Given the description of an element on the screen output the (x, y) to click on. 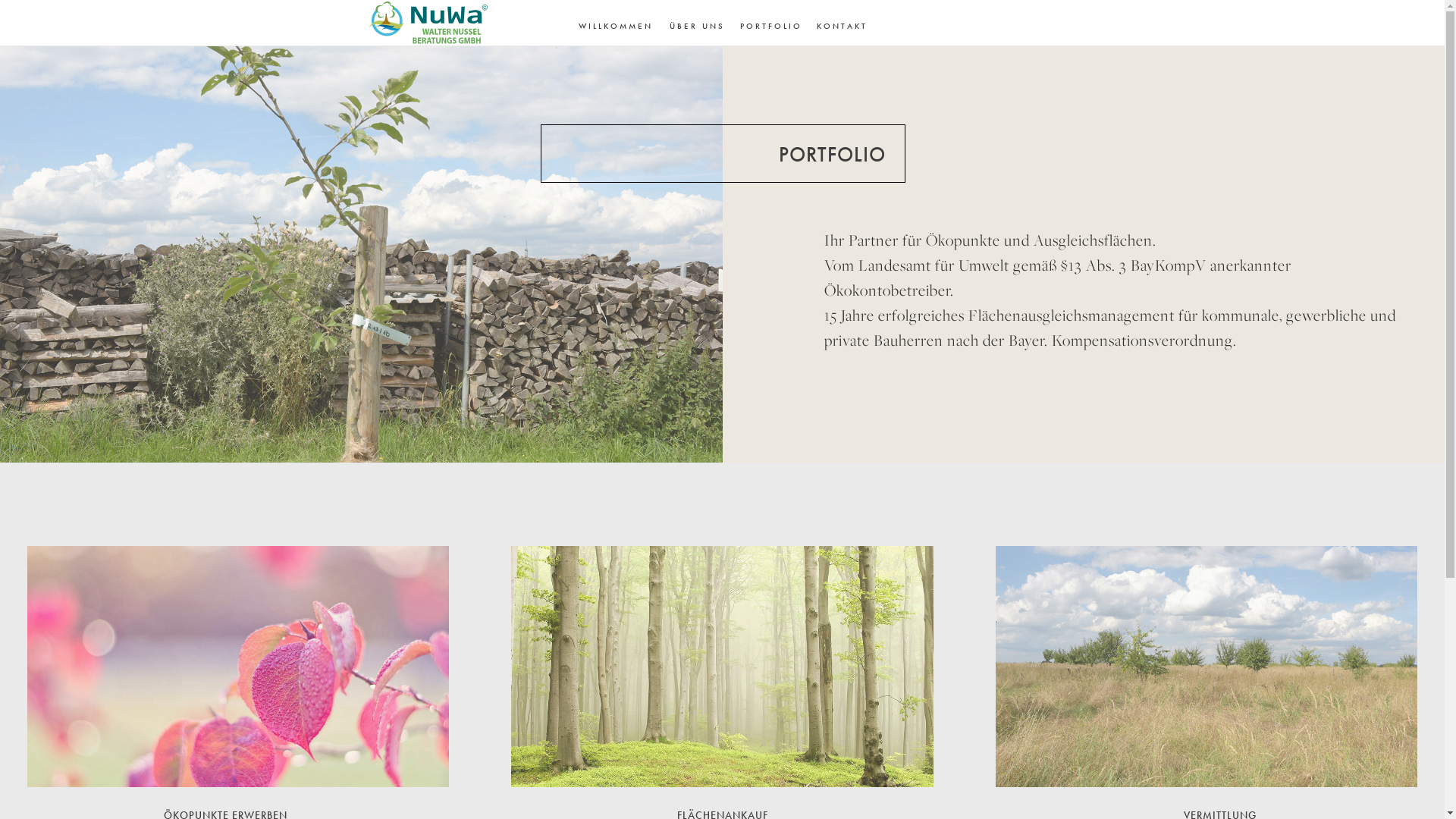
  Element type: text (237, 666)
WILLKOMMEN Element type: text (615, 26)
KONTAKT Element type: text (841, 26)
NuWa Walter Nussel Beratungs GmbH Element type: hover (428, 22)
PORTFOLIO Element type: text (770, 26)
  Element type: text (721, 666)
  Element type: text (1206, 666)
